Given the description of an element on the screen output the (x, y) to click on. 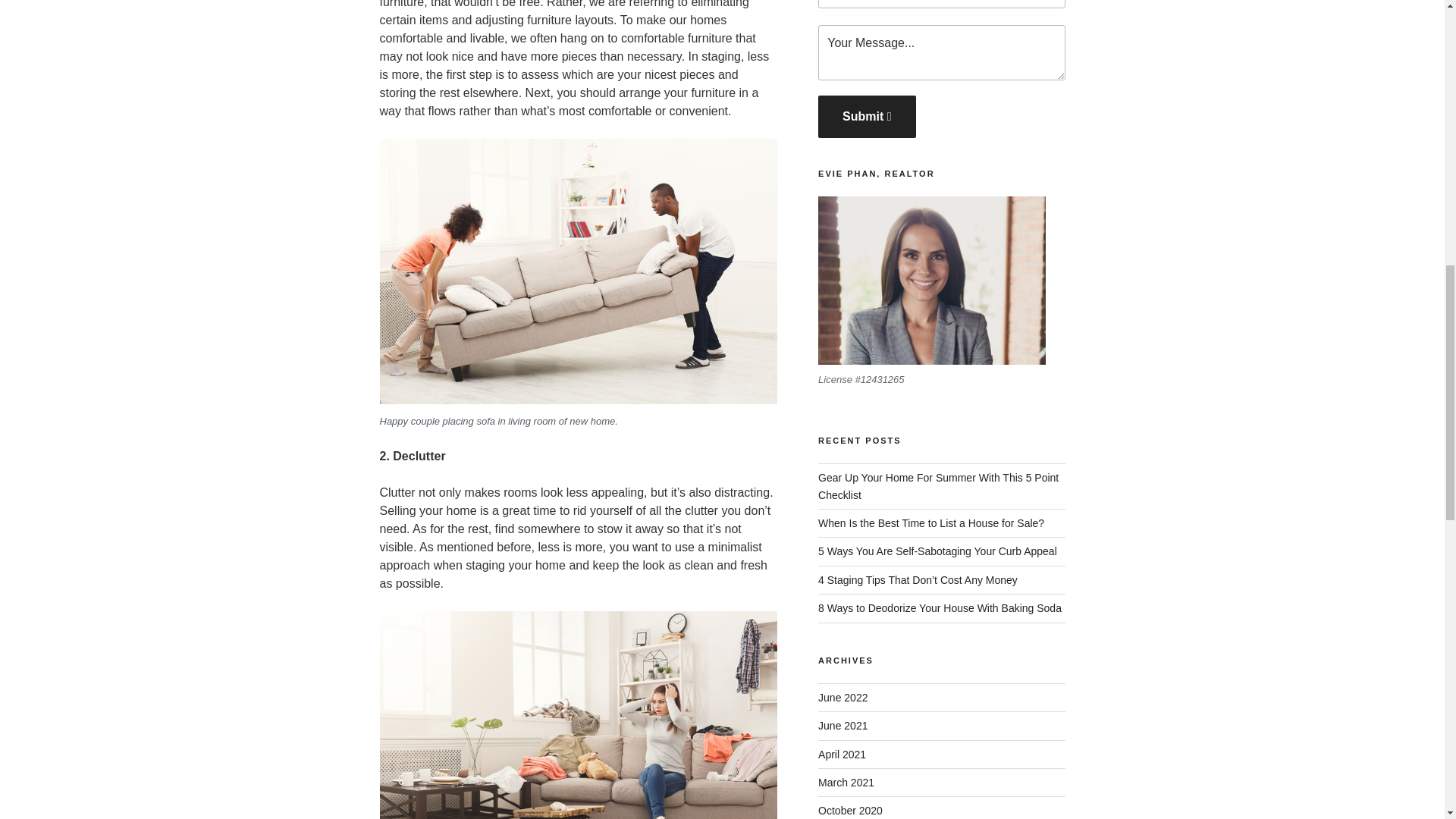
April 2021 (842, 754)
October 2020 (850, 810)
June 2022 (842, 697)
Gear Up Your Home For Summer With This 5 Point Checklist (938, 485)
June 2021 (842, 725)
March 2021 (846, 782)
Submit (866, 116)
When Is the Best Time to List a House for Sale? (930, 522)
5 Ways You Are Self-Sabotaging Your Curb Appeal (937, 551)
8 Ways to Deodorize Your House With Baking Soda (939, 607)
